Given the description of an element on the screen output the (x, y) to click on. 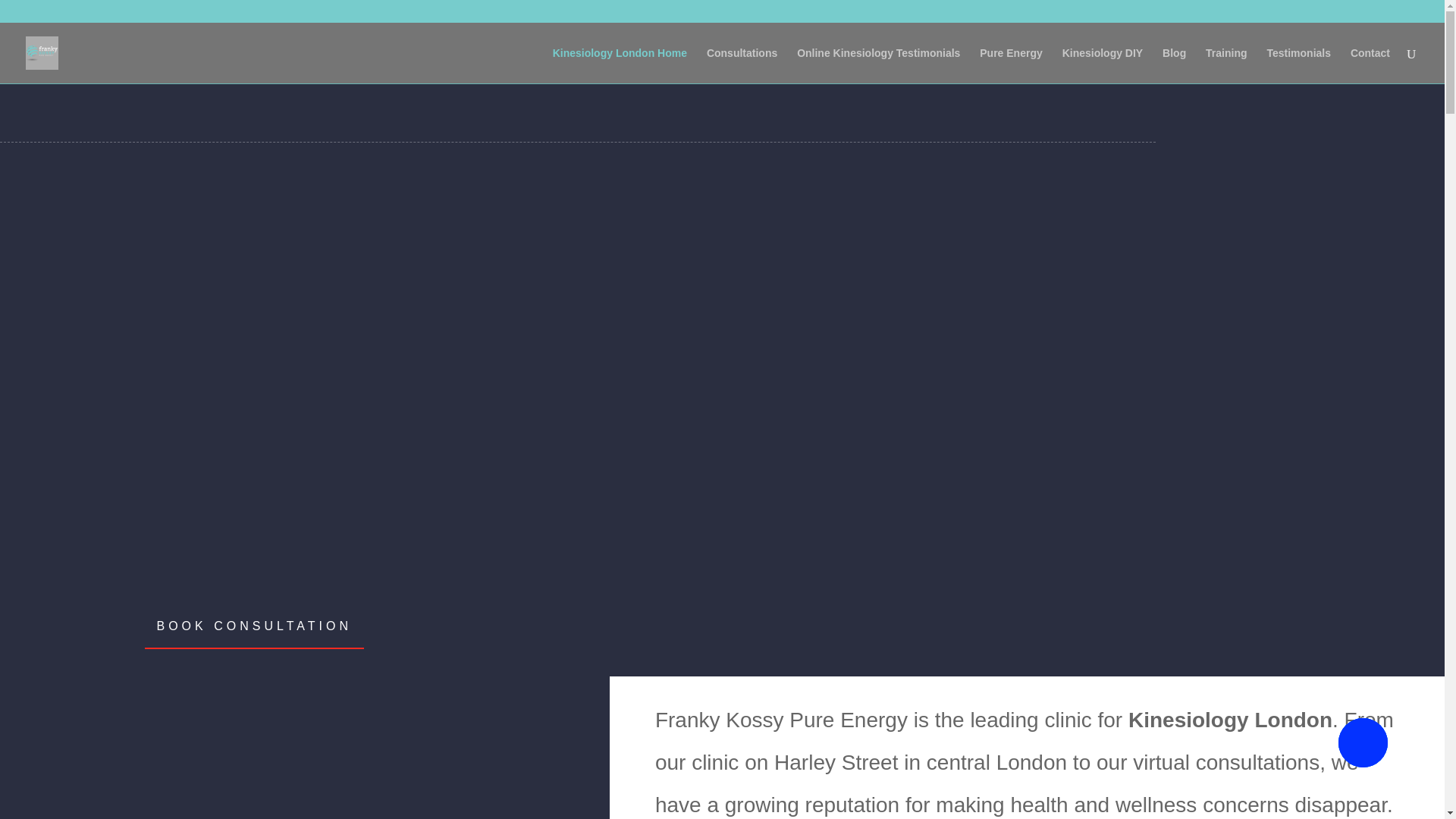
Contact (1370, 65)
Online Kinesiology Testimonials (877, 65)
Testimonials (1298, 65)
Pure Energy (1010, 65)
Kinesiology DIY (1102, 65)
Kinesiology London Home (620, 65)
Training (1225, 65)
Consultations (741, 65)
BOOK CONSULTATION (253, 625)
